Given the description of an element on the screen output the (x, y) to click on. 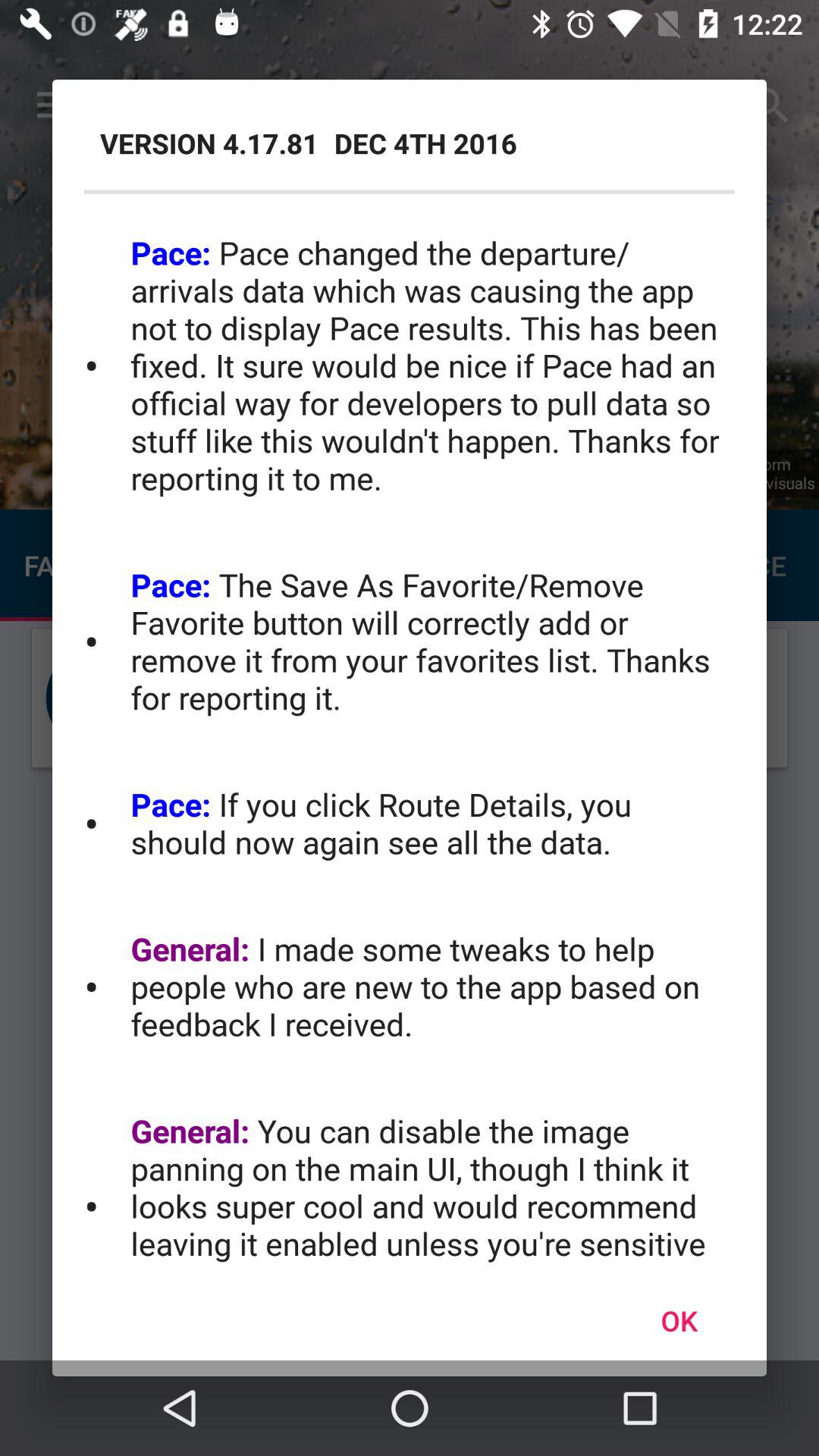
turn off icon below the general you can icon (678, 1320)
